Given the description of an element on the screen output the (x, y) to click on. 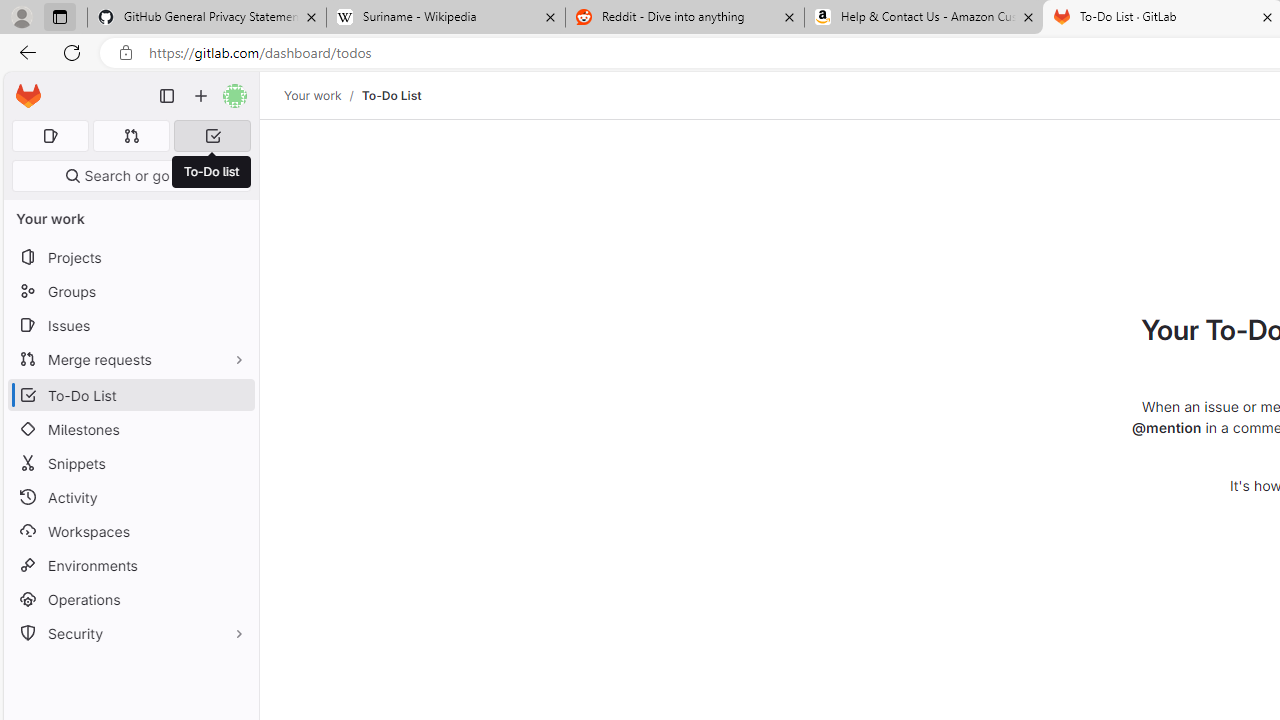
Merge requests (130, 358)
Assigned issues 0 (50, 136)
Issues (130, 325)
Groups (130, 291)
Snippets (130, 463)
Issues (130, 325)
Projects (130, 257)
Operations (130, 599)
Environments (130, 564)
Security (130, 633)
Groups (130, 291)
